Given the description of an element on the screen output the (x, y) to click on. 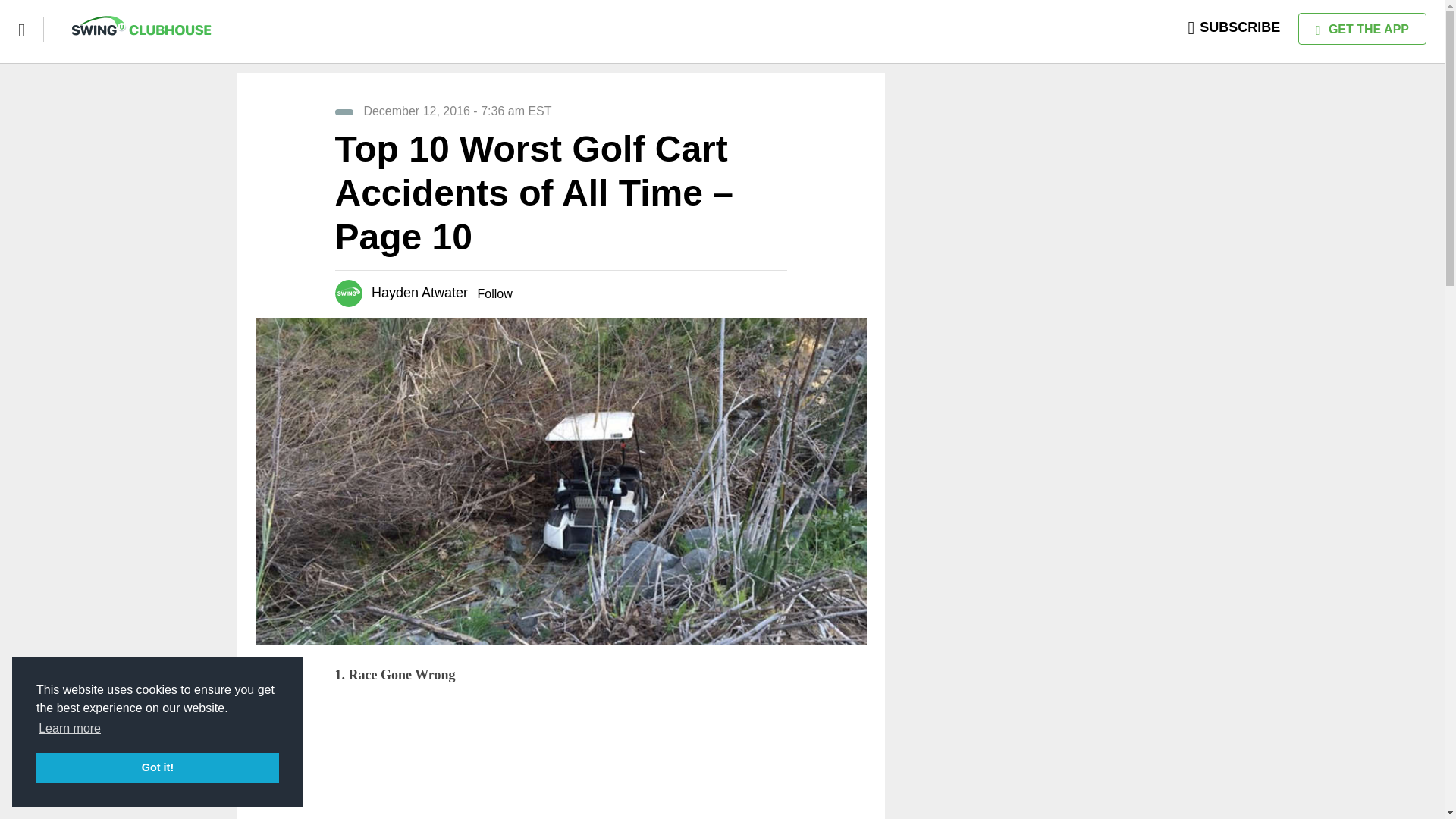
SUBSCRIBE (1234, 27)
Hayden Atwater (419, 292)
Learn more (69, 728)
Follow (494, 293)
Got it! (157, 767)
GET THE APP (1362, 29)
